Given the description of an element on the screen output the (x, y) to click on. 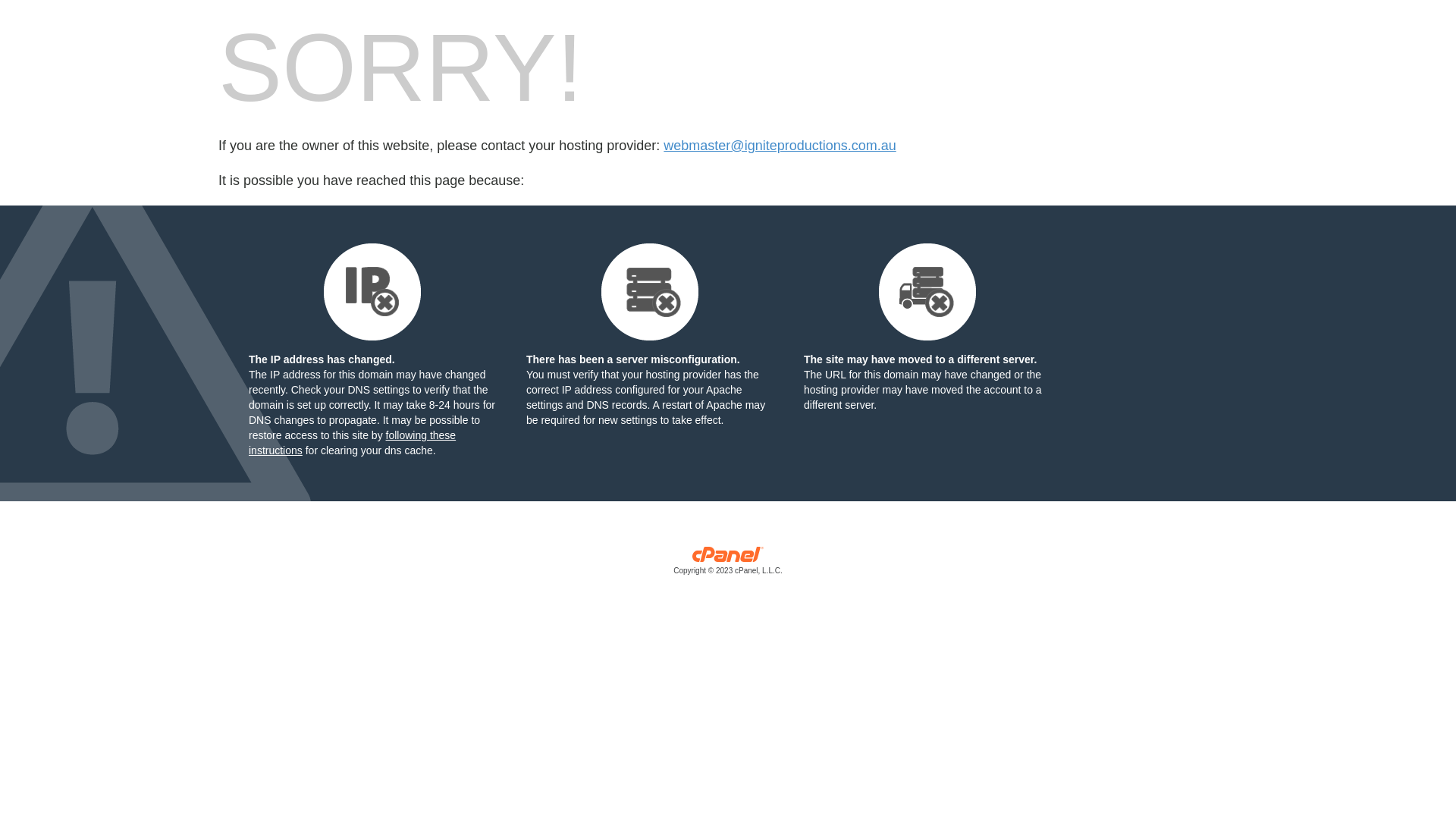
following these instructions Element type: text (351, 442)
webmaster@igniteproductions.com.au Element type: text (779, 145)
